Given the description of an element on the screen output the (x, y) to click on. 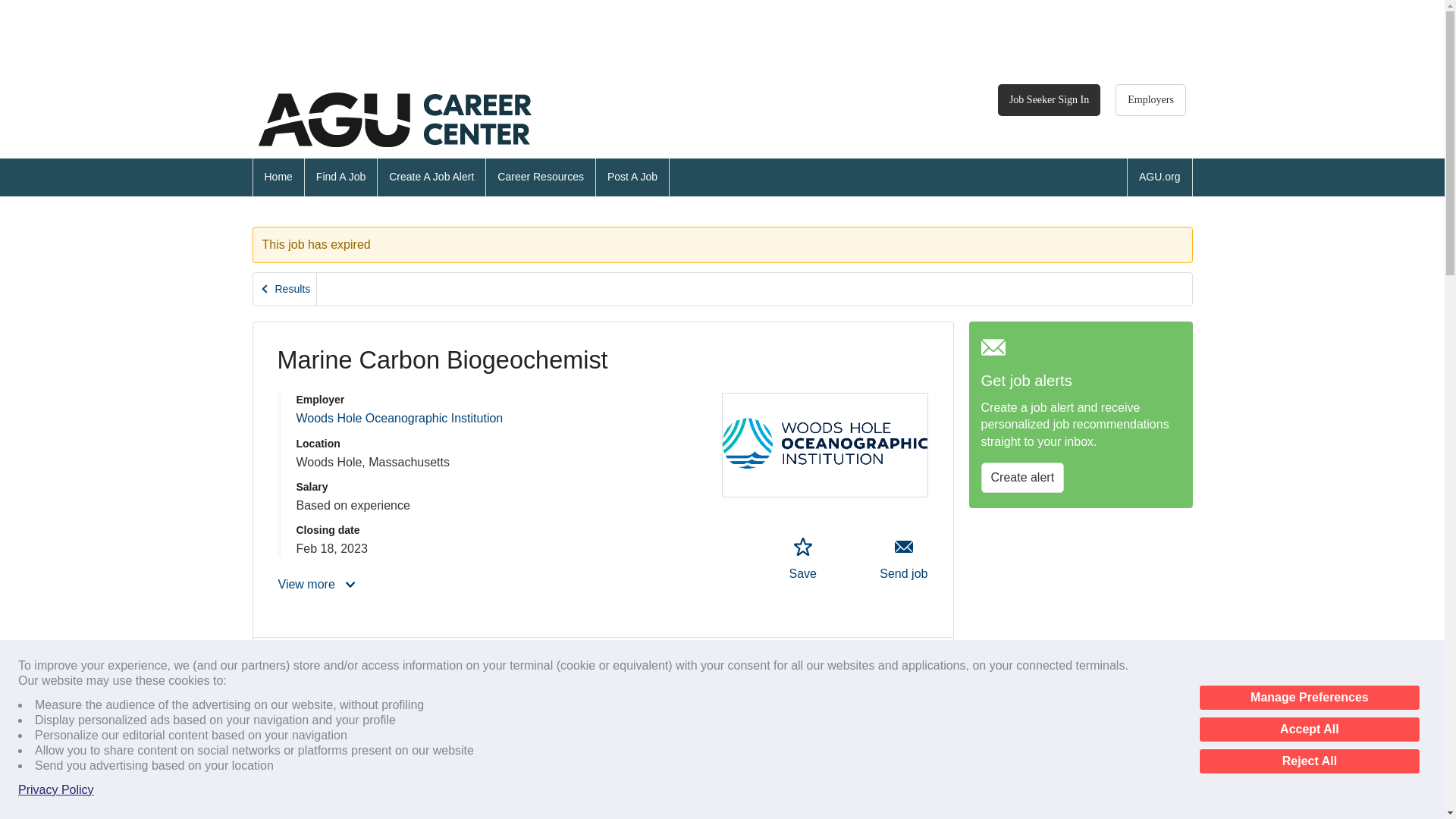
View more (318, 584)
AGU Career Center (802, 559)
Accept All (395, 119)
Employers (1309, 729)
AGU.org (1150, 100)
Create A Job Alert (1158, 177)
Privacy Policy (430, 177)
Send job (55, 789)
Results (903, 559)
Find A Job (285, 288)
Job Seeker Sign In (340, 177)
Woods Hole Oceanographic Institution (1048, 100)
Post A Job (398, 418)
Job Details (631, 177)
